Given the description of an element on the screen output the (x, y) to click on. 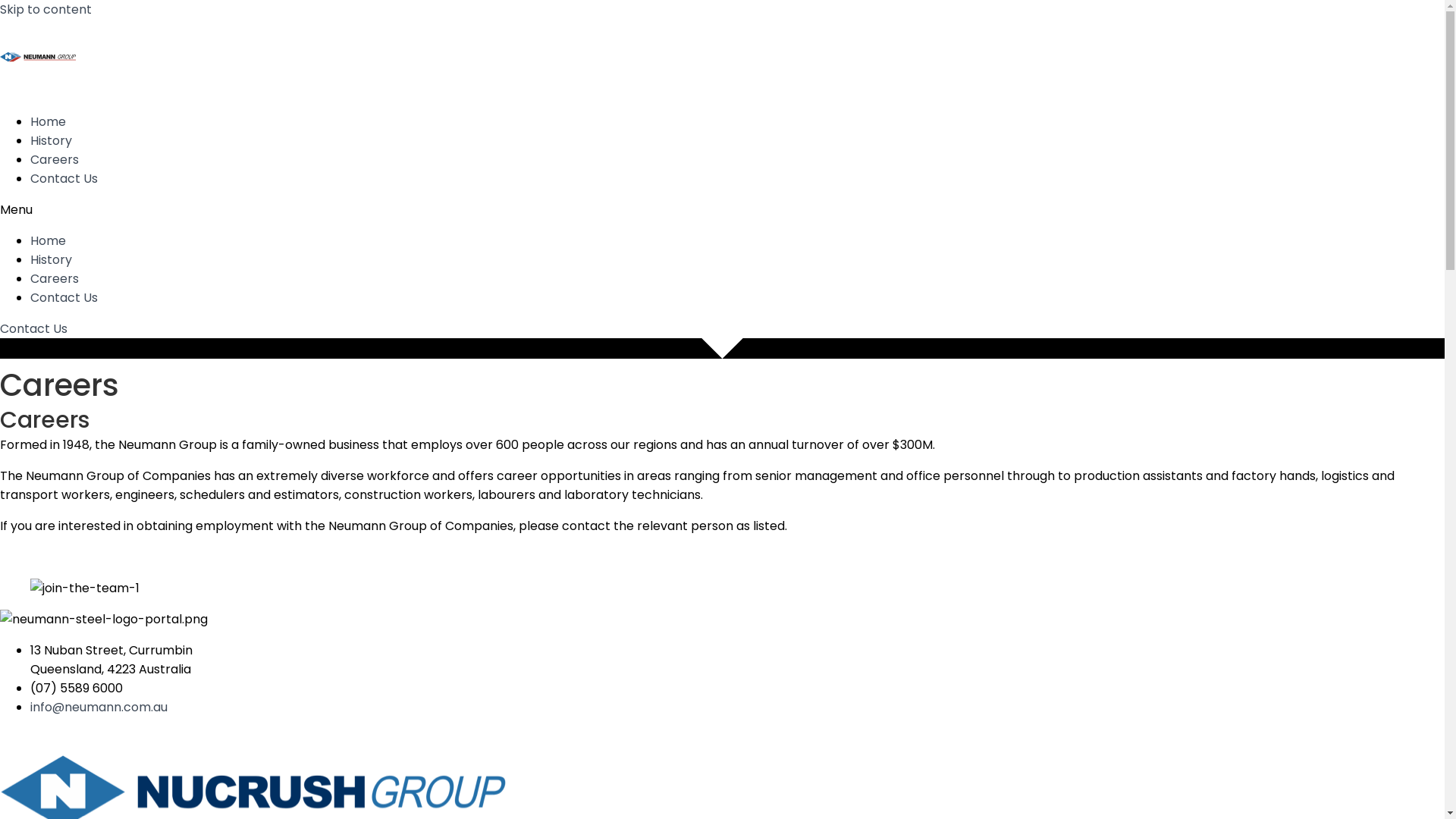
info@neumann.com.au Element type: text (98, 706)
Skip to content Element type: text (45, 9)
History Element type: text (51, 259)
Home Element type: text (47, 240)
Careers Element type: text (54, 159)
History Element type: text (51, 140)
Contact Us Element type: text (63, 178)
Contact Us Element type: text (63, 297)
Home Element type: text (47, 121)
Careers Element type: text (54, 278)
Contact Us Element type: text (33, 328)
